Given the description of an element on the screen output the (x, y) to click on. 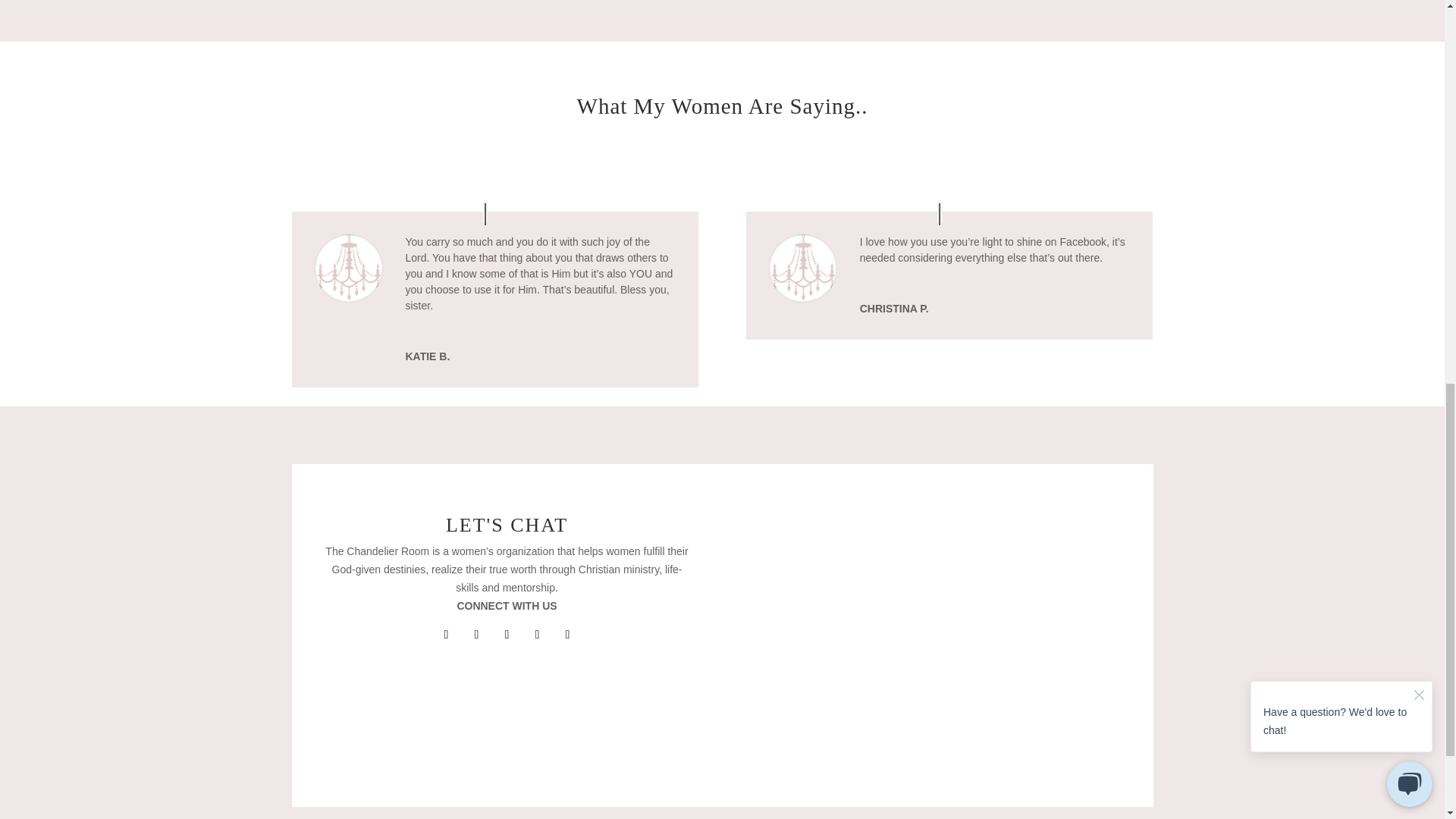
Follow on Facebook (445, 634)
Follow on X (475, 634)
Follow on LinkedIn (566, 634)
Form 1 (937, 635)
Form 0 (949, 27)
Follow on Instagram (506, 634)
Follow on Pinterest (536, 634)
